Given the description of an element on the screen output the (x, y) to click on. 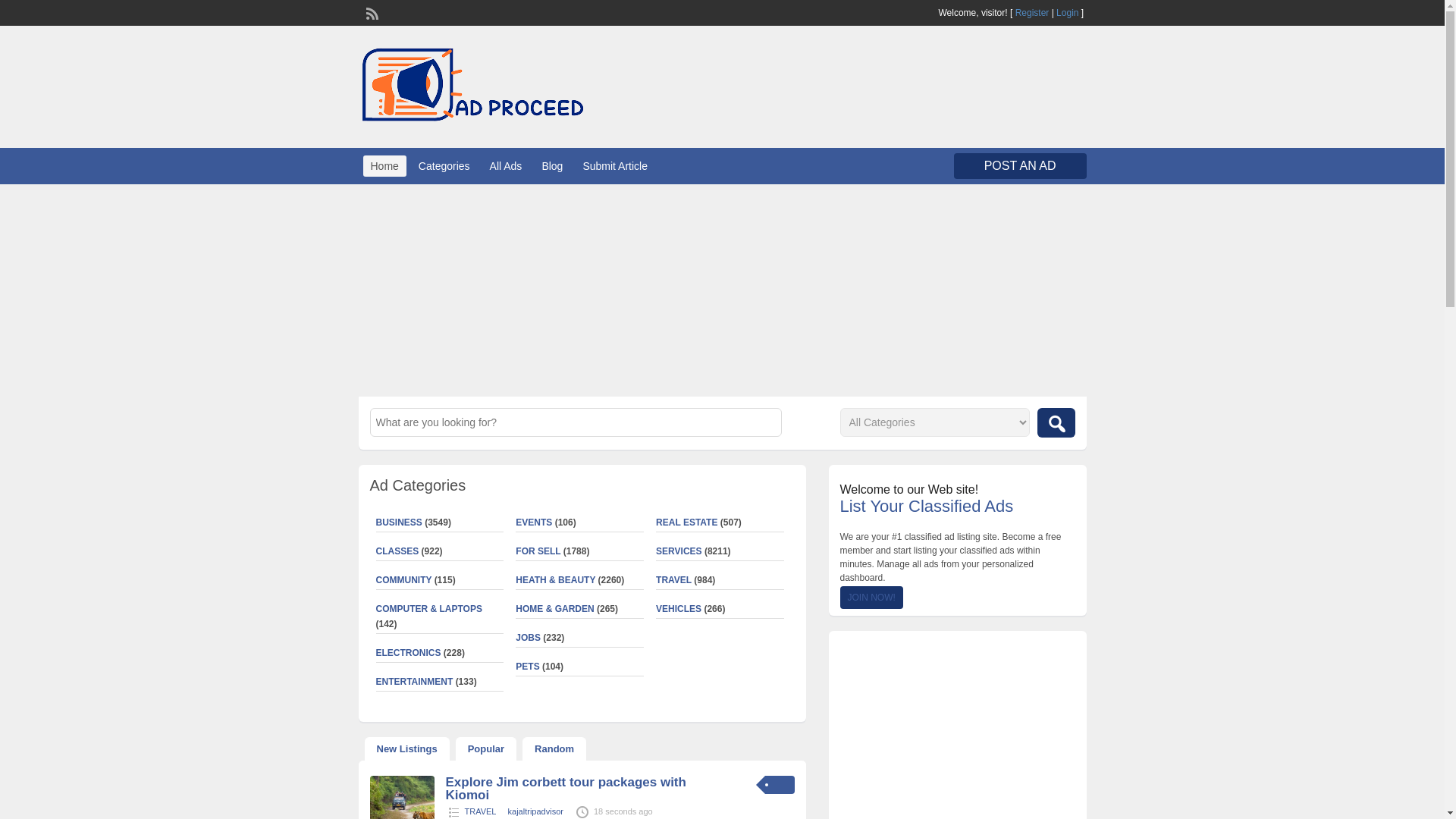
EVENTS (533, 521)
REAL ESTATE (686, 521)
search (1055, 422)
JOBS (527, 637)
ENTERTAINMENT (413, 681)
CLASSES (397, 551)
Blog (552, 165)
Home (384, 165)
All Ads (505, 165)
POST AN AD (1019, 166)
BUSINESS (398, 521)
ELECTRONICS (408, 652)
Submit Article (615, 165)
Login (1067, 12)
Categories (443, 165)
